Given the description of an element on the screen output the (x, y) to click on. 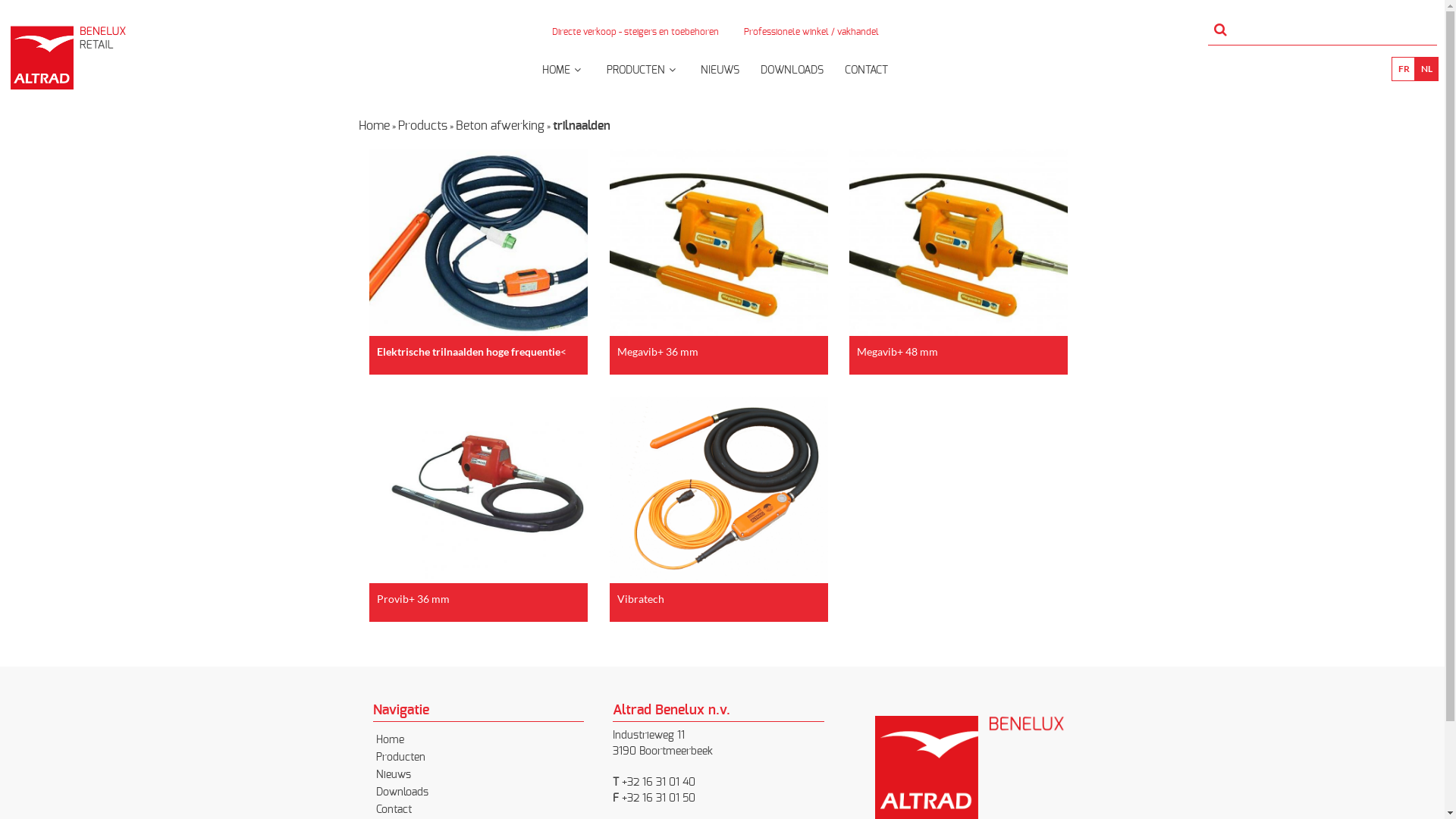
Geef de woorden op waarnaar u wilt zoeken. Element type: hover (1322, 33)
CONTACT Element type: text (866, 75)
Megavib+ 48 mm Element type: text (958, 254)
Directe verkoop - steigers en toebehoren Element type: text (635, 36)
Zoeken Element type: text (56, 17)
Products Element type: text (421, 125)
Contact Element type: text (393, 809)
NIEUWS Element type: text (719, 75)
Professionele winkel / vakhandel Element type: text (811, 36)
Vibratech Element type: text (718, 501)
Producten Element type: text (400, 757)
PRODUCTEN Element type: text (643, 75)
NL Element type: text (1426, 68)
Megavib+ 36 mm Element type: text (718, 254)
HOME Element type: text (563, 75)
Provib+ 36 mm Element type: text (478, 501)
Overslaan en naar de inhoud gaan Element type: text (697, 1)
Elektrische trilnaalden hoge frequentie< Element type: text (478, 254)
Downloads Element type: text (402, 792)
Home Element type: text (390, 739)
Beton afwerking Element type: text (499, 125)
DOWNLOADS Element type: text (791, 75)
Home Element type: text (373, 125)
FR Element type: text (1403, 68)
Nieuws Element type: text (393, 774)
